Given the description of an element on the screen output the (x, y) to click on. 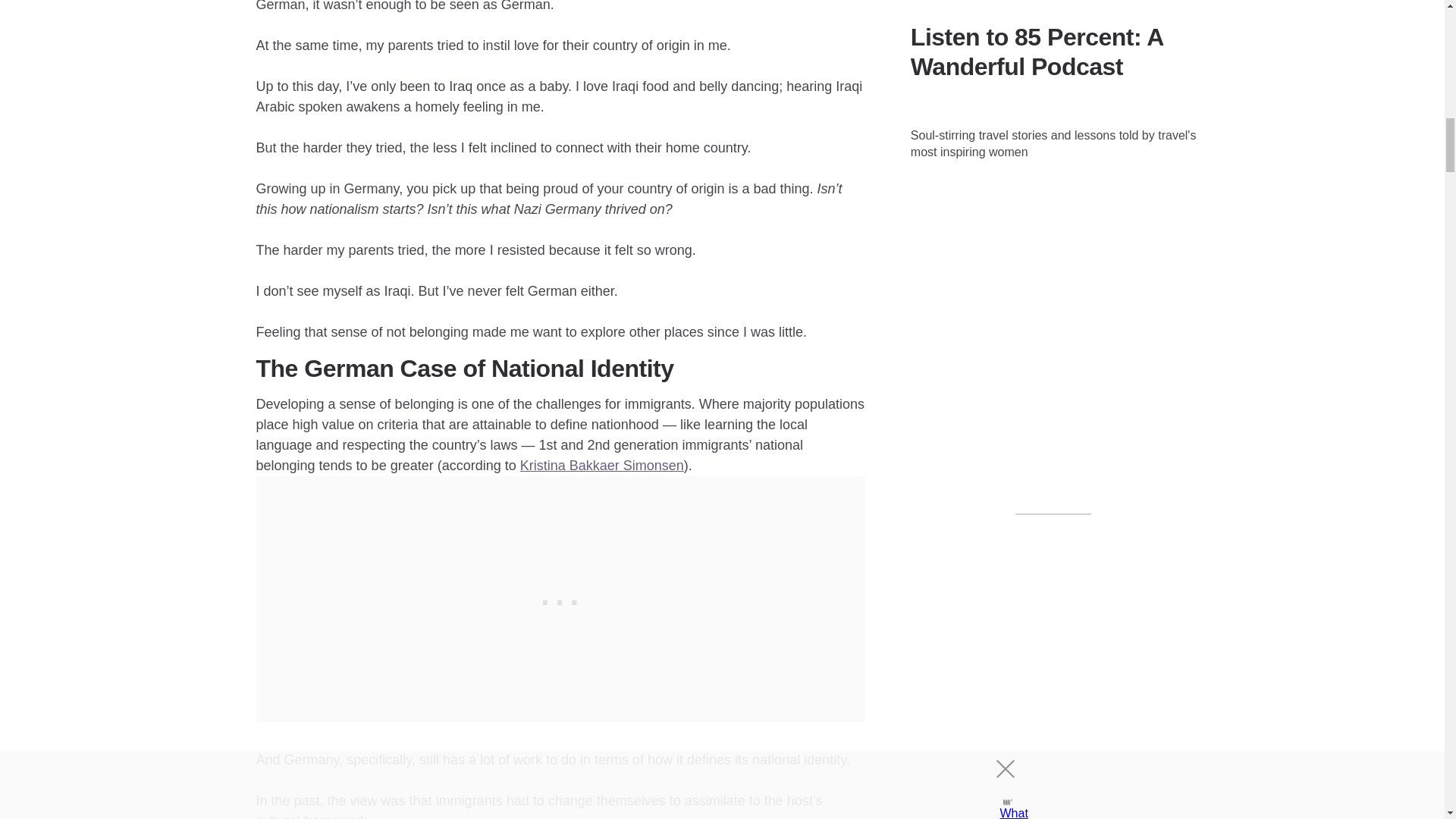
Kristina Bakkaer Simonsen (601, 465)
